Given the description of an element on the screen output the (x, y) to click on. 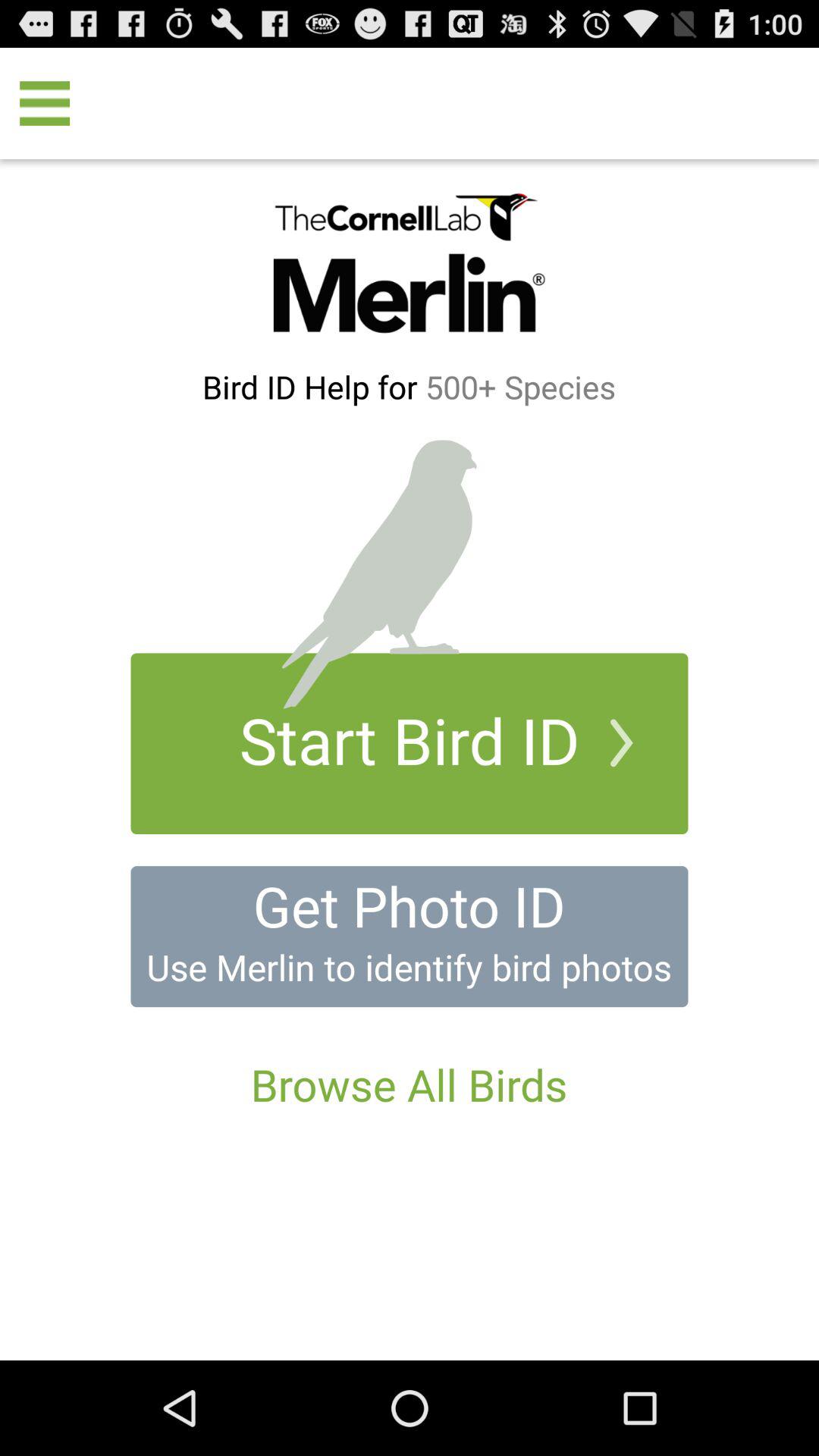
select get photo id (409, 936)
